Given the description of an element on the screen output the (x, y) to click on. 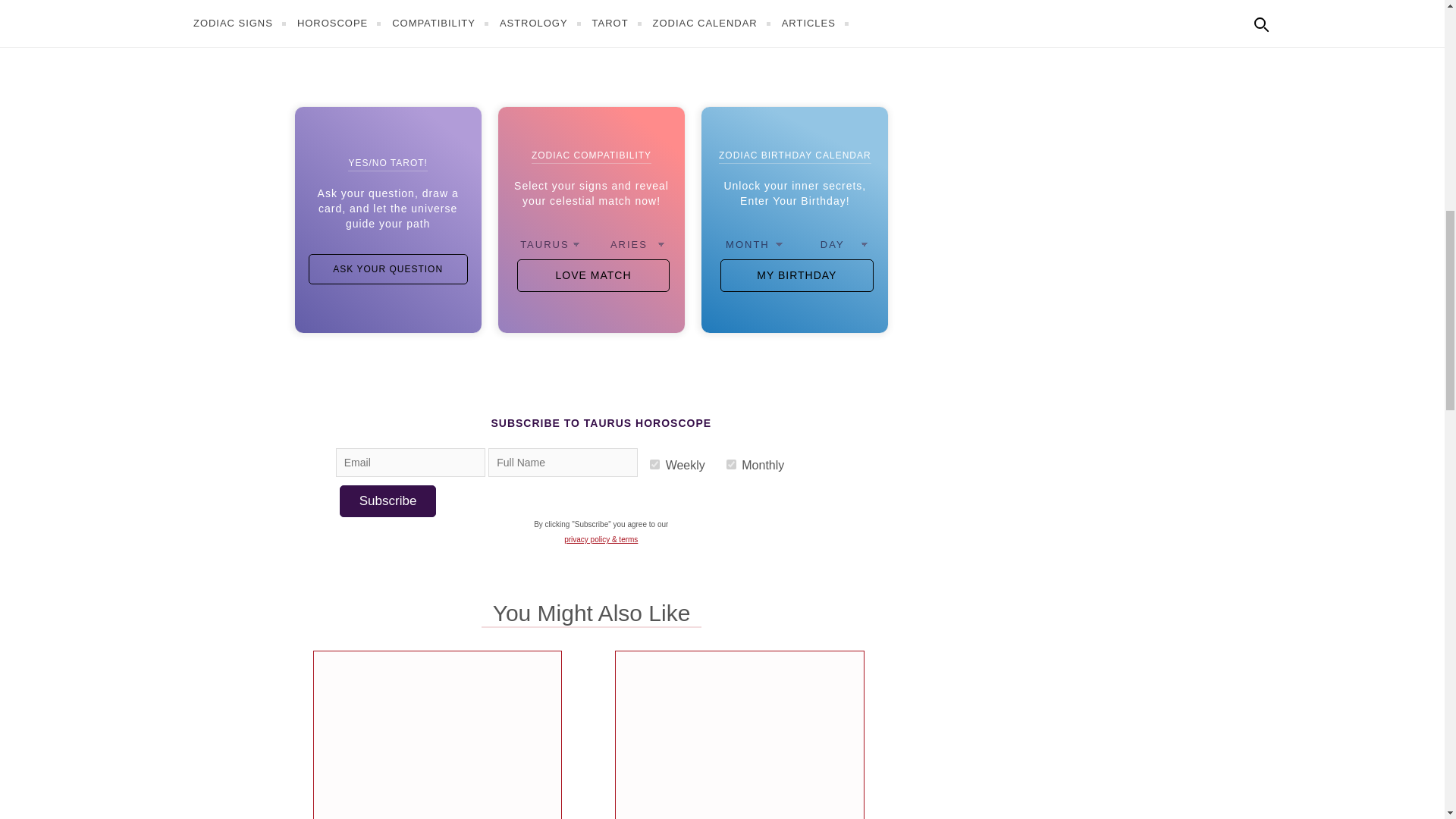
weekly (654, 464)
monthly (731, 464)
